Given the description of an element on the screen output the (x, y) to click on. 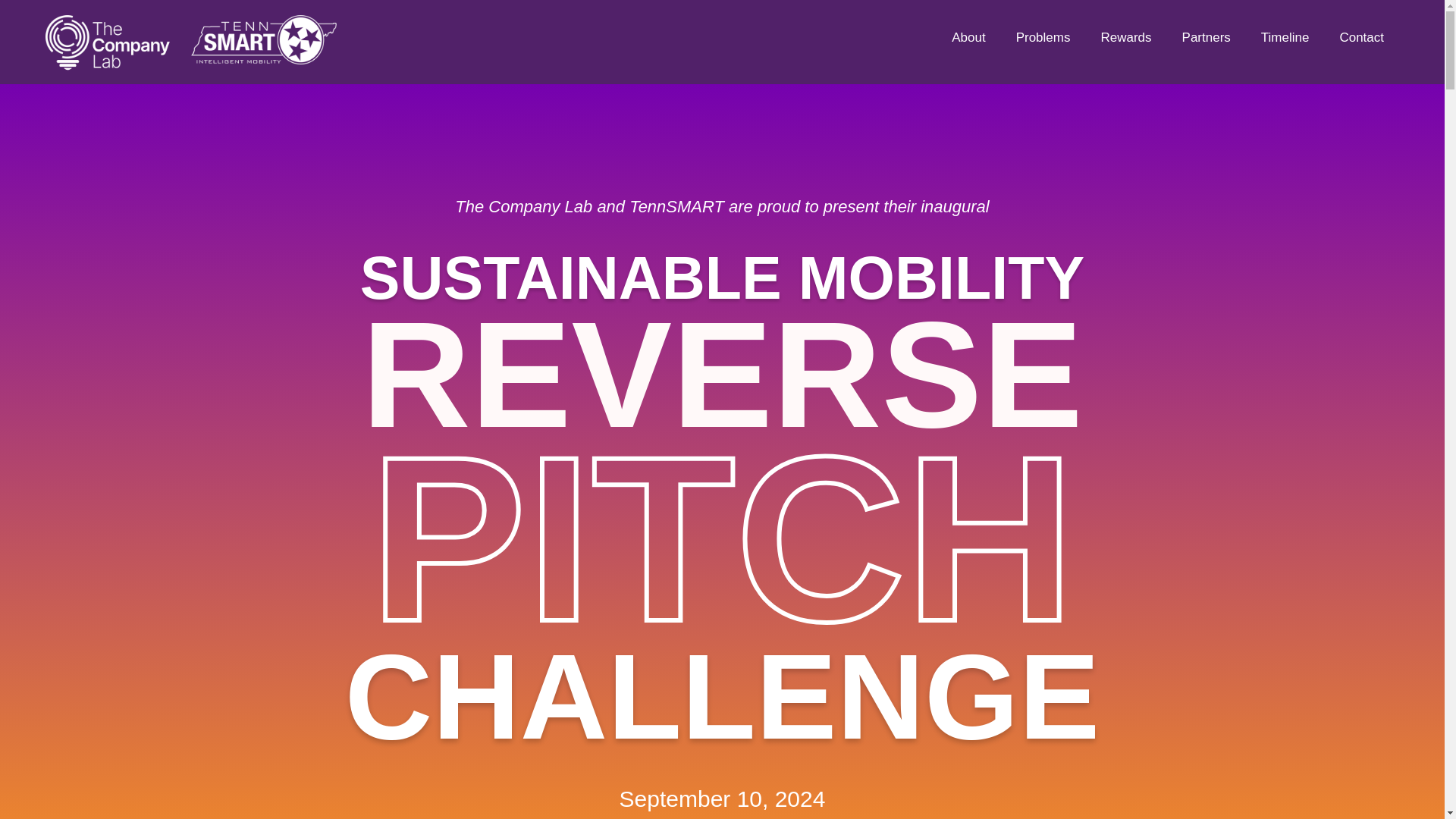
About (968, 37)
Problems (1043, 37)
Timeline (1285, 37)
Rewards (1125, 37)
Contact (1361, 37)
Partners (1206, 37)
